Given the description of an element on the screen output the (x, y) to click on. 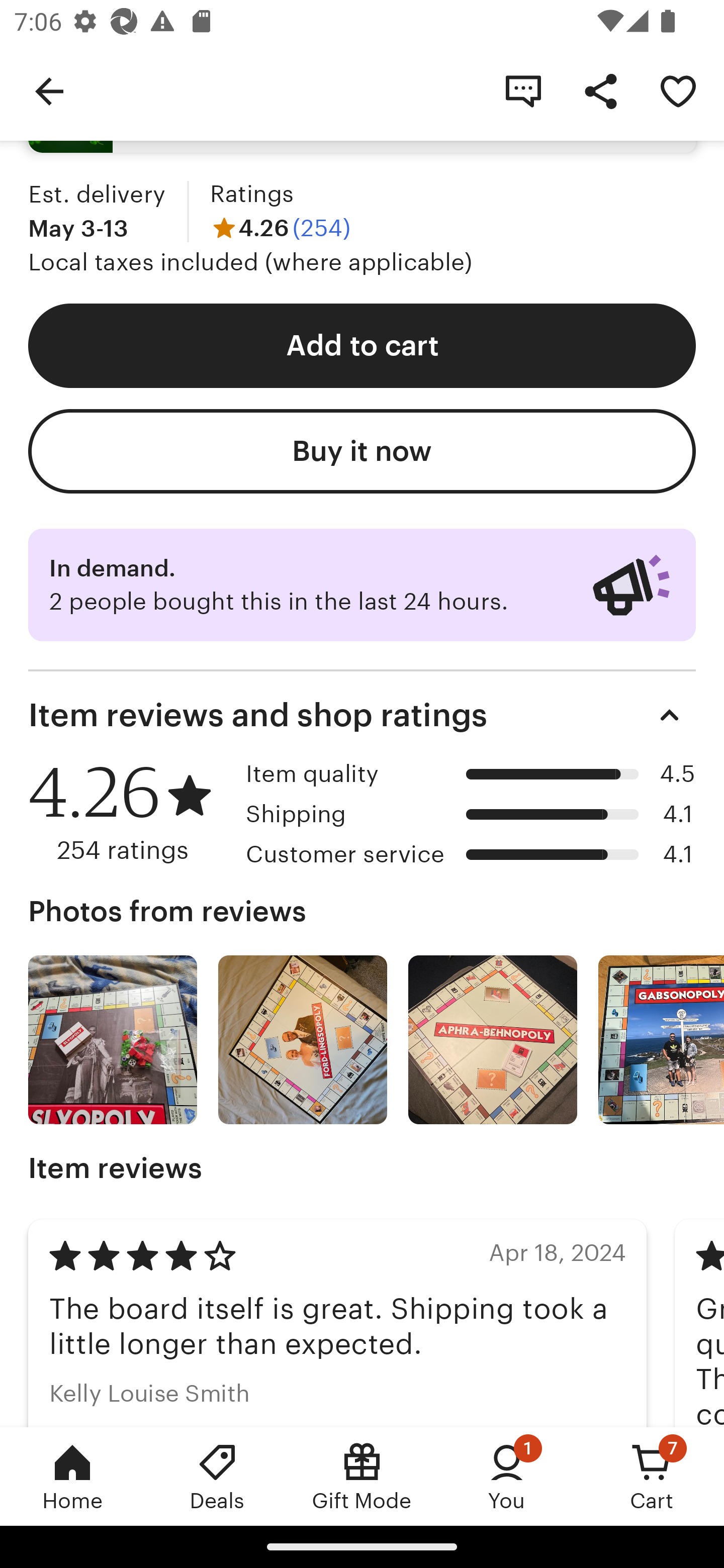
Navigate up (49, 90)
Contact shop (523, 90)
Share (600, 90)
Ratings (251, 193)
4.26 (254) (280, 227)
Add to cart (361, 345)
Buy it now (361, 451)
Item reviews and shop ratings (362, 714)
4.26 254 ratings (129, 811)
Photo from review (112, 1039)
Photo from review (302, 1039)
Photo from review (492, 1039)
Photo from review (661, 1039)
Deals (216, 1475)
Gift Mode (361, 1475)
You, 1 new notification You (506, 1475)
Cart, 7 new notifications Cart (651, 1475)
